Given the description of an element on the screen output the (x, y) to click on. 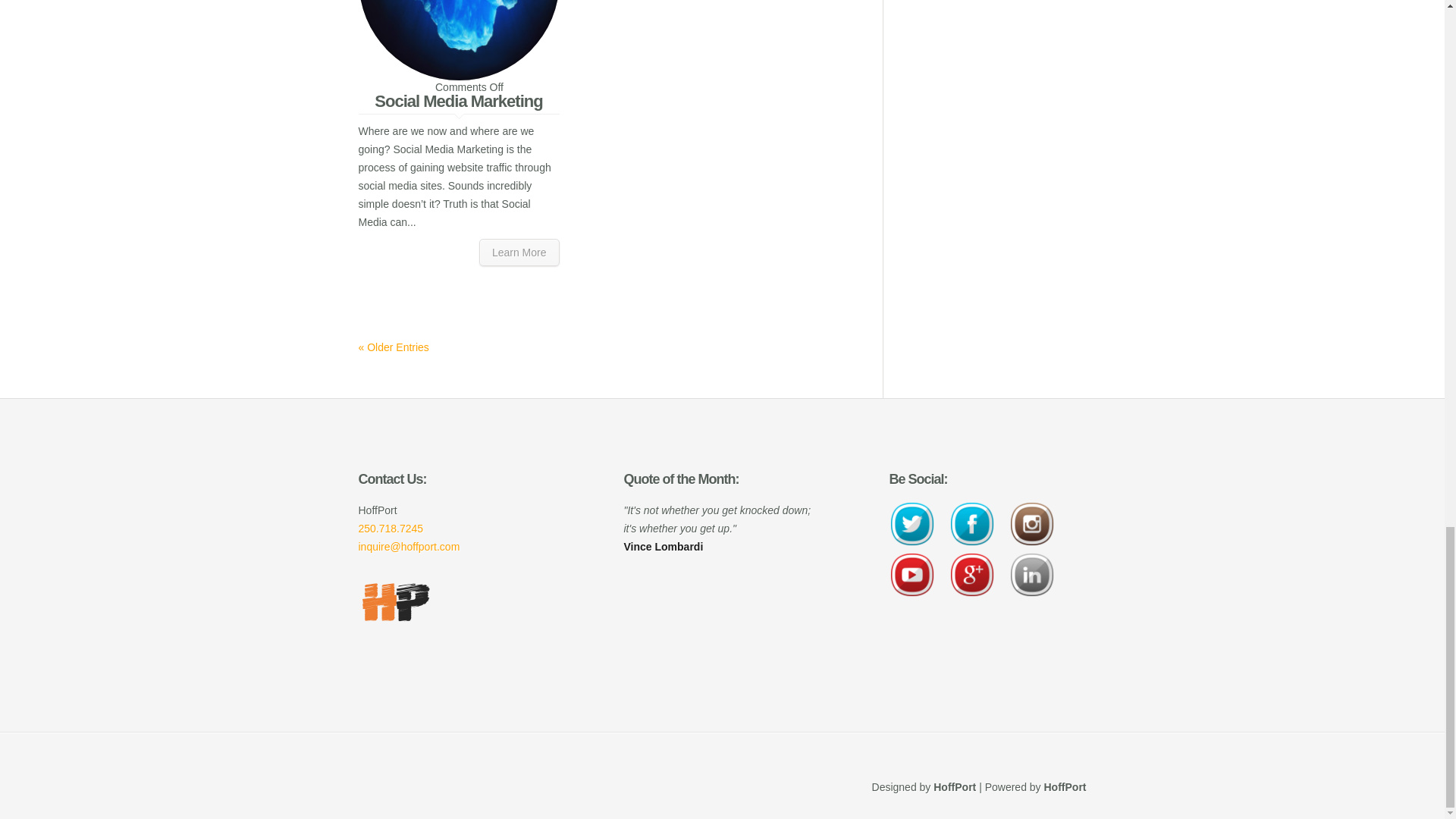
HoffPort (954, 787)
